Given the description of an element on the screen output the (x, y) to click on. 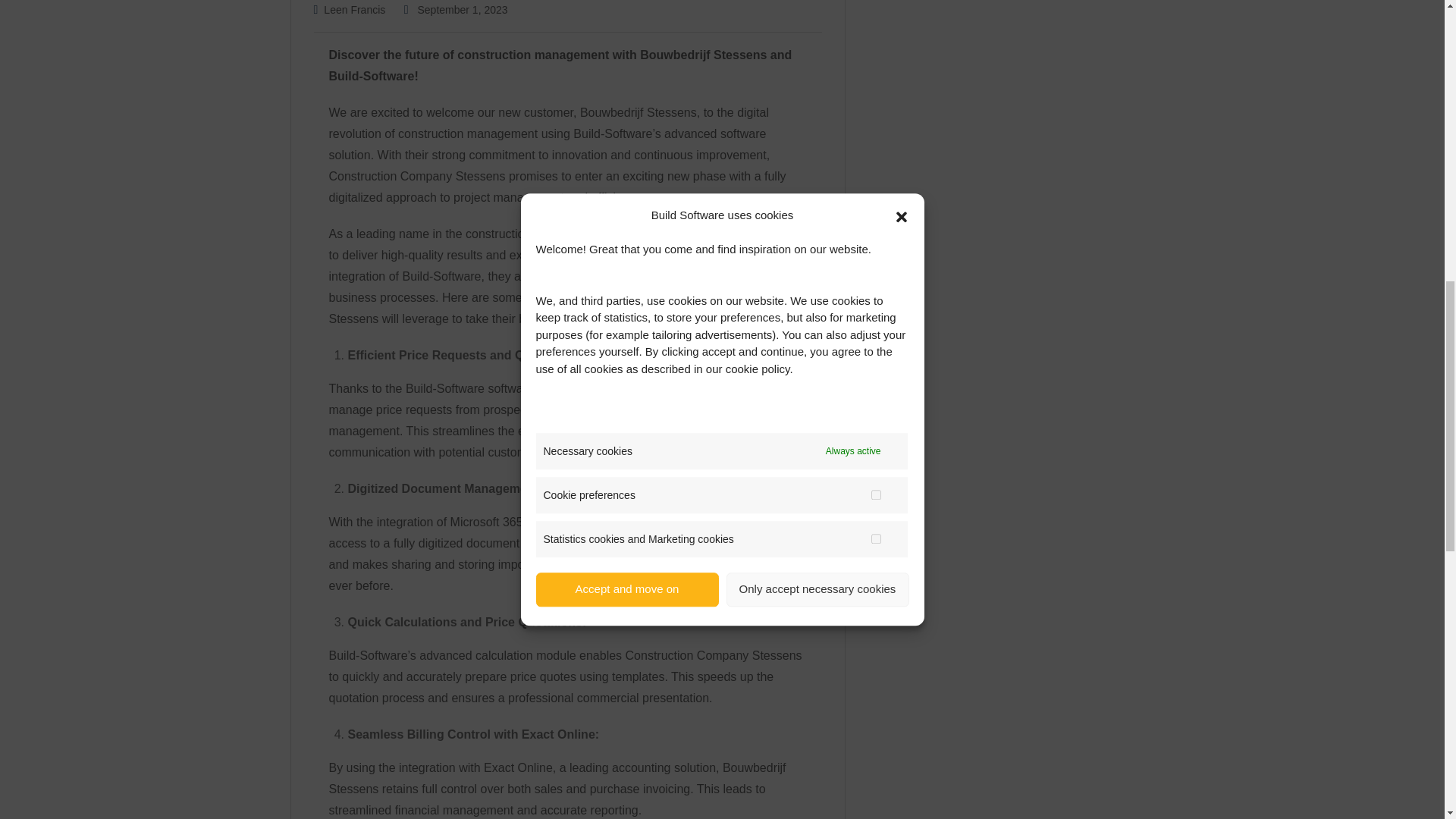
Search Now! (1016, 148)
